Given the description of an element on the screen output the (x, y) to click on. 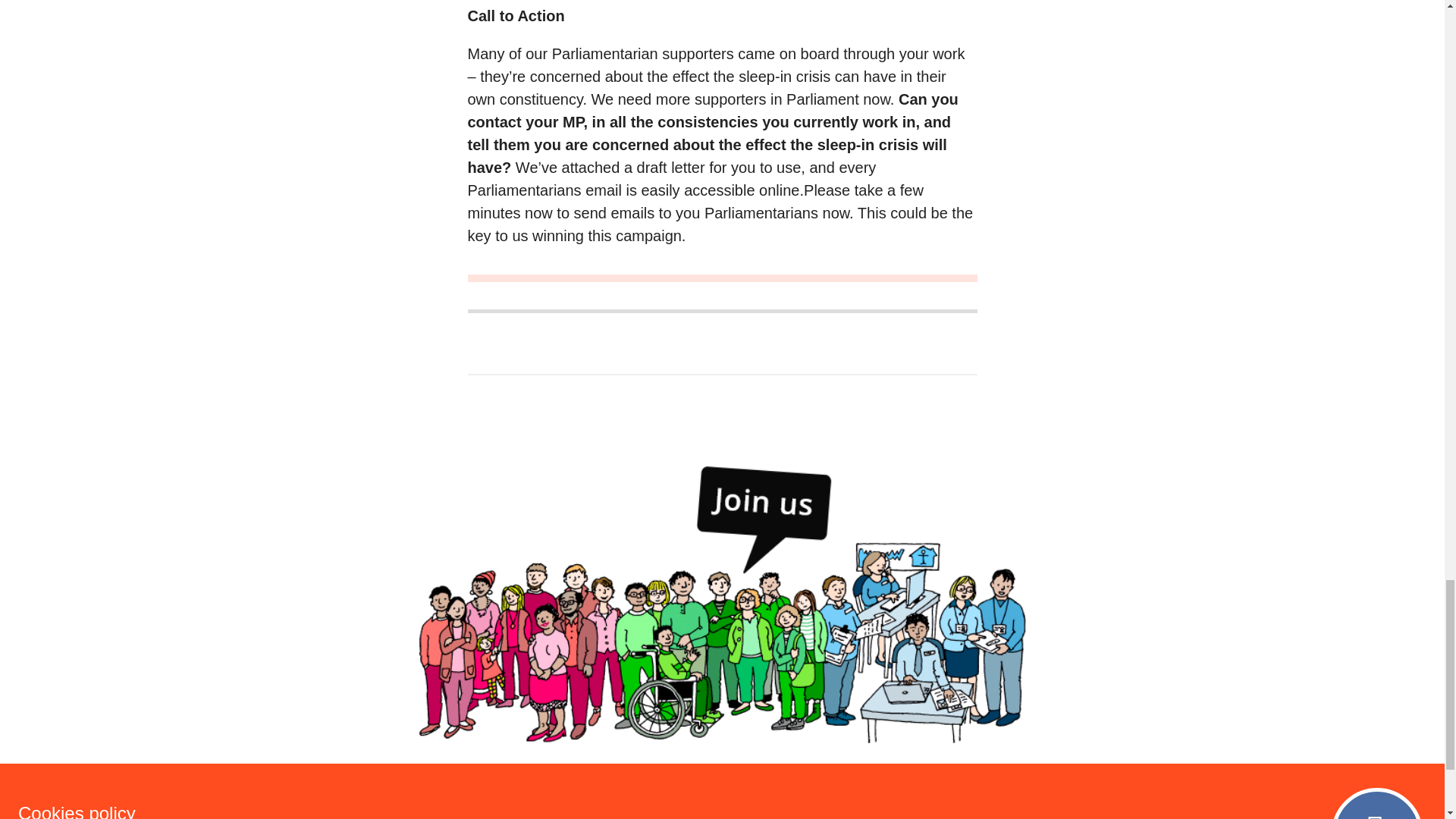
Follow us on Facebook (964, 791)
facebook (964, 791)
Cookies policy (260, 809)
